Given the description of an element on the screen output the (x, y) to click on. 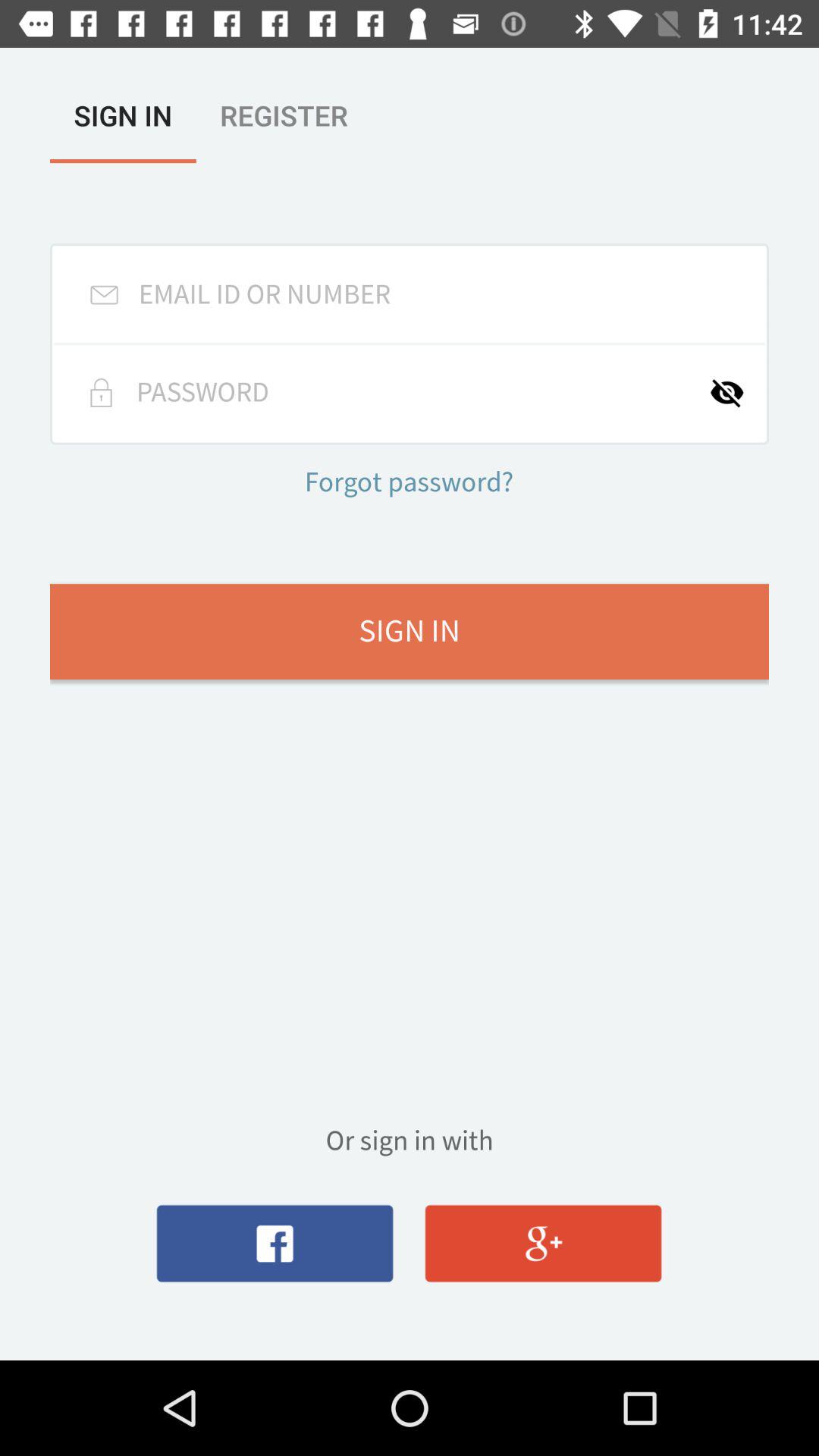
select icon above sign in icon (736, 392)
